Given the description of an element on the screen output the (x, y) to click on. 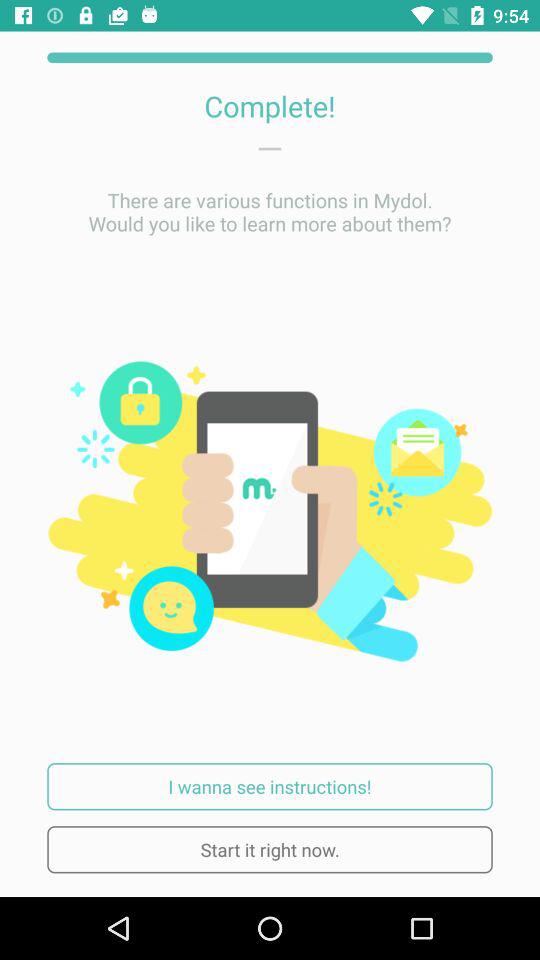
scroll to the start it right item (269, 849)
